Given the description of an element on the screen output the (x, y) to click on. 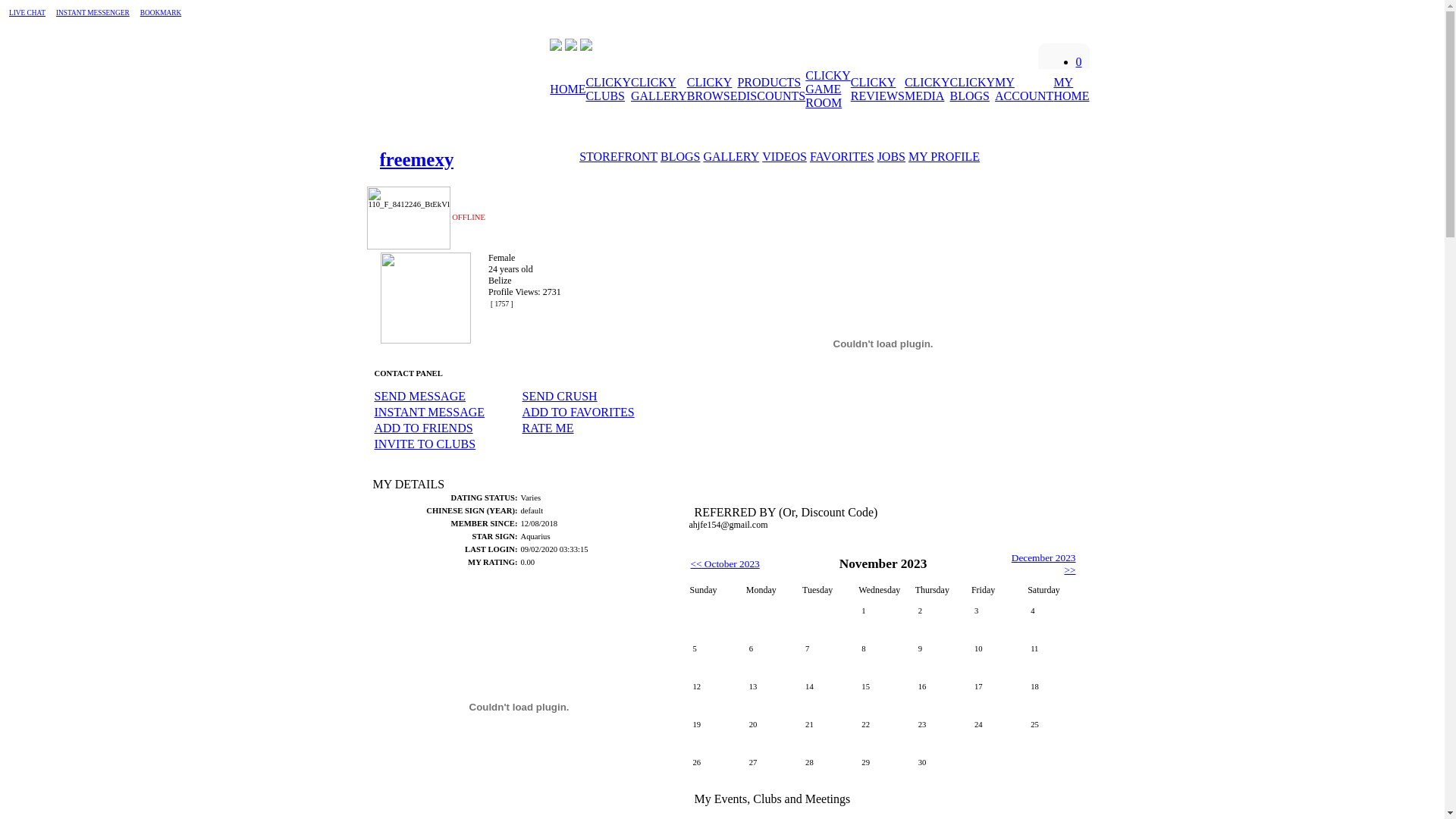
14 Element type: text (826, 694)
CLICKY
CLUBS Element type: text (607, 88)
30 Element type: text (939, 770)
MY
ACCOUNT Element type: text (1023, 88)
CLICKY
GALLERY Element type: text (658, 88)
CLICKY
GALLERY Element type: text (658, 89)
JOBS Element type: text (891, 156)
JOBS Element type: text (891, 156)
26 Element type: text (713, 770)
SEND CRUSH Element type: text (558, 395)
FAVORITES Element type: text (841, 156)
18 Element type: text (1051, 694)
VIDEOS Element type: text (784, 156)
December 2023 >> Element type: text (1043, 563)
BLOGS Element type: text (679, 156)
CLICKY
BROWSE Element type: text (712, 88)
15 Element type: text (882, 694)
MY PROFILE Element type: text (943, 156)
19 Element type: text (713, 732)
PRODUCTS
DISCOUNTS Element type: text (771, 88)
ADD TO FAVORITES Element type: text (577, 411)
7 Element type: text (826, 656)
HOME Element type: text (567, 88)
RATE ME Element type: text (547, 427)
28 Element type: text (826, 770)
ADD TO FRIENDS Element type: text (423, 427)
MY
HOME Element type: text (1070, 88)
STOREFRONT Element type: text (618, 156)
25 Element type: text (1051, 732)
VIDEOS Element type: text (784, 156)
GALLERY Element type: text (730, 156)
13 Element type: text (770, 694)
LIVE CHAT Element type: text (27, 12)
27 Element type: text (770, 770)
SEND MESSAGE Element type: text (419, 395)
17 Element type: text (995, 694)
11 Element type: text (1051, 656)
10 Element type: text (995, 656)
4 Element type: text (1051, 618)
<< October 2023 Element type: text (724, 563)
FAVORITES Element type: text (841, 156)
22 Element type: text (882, 732)
29 Element type: text (882, 770)
MY PROFILE Element type: text (943, 156)
16 Element type: text (939, 694)
MY
ACCOUNT Element type: text (1023, 89)
0 Element type: text (1078, 61)
9 Element type: text (939, 656)
PRODUCTS
DISCOUNTS Element type: text (771, 89)
CLICKY
REVIEWS Element type: text (877, 88)
CLICKY
BROWSE Element type: text (712, 89)
freemexy Element type: text (416, 159)
1 Element type: text (882, 618)
CLICKY
BLOGS Element type: text (971, 88)
MY
HOME Element type: text (1070, 89)
8 Element type: text (882, 656)
CLICKY
REVIEWS Element type: text (877, 89)
20 Element type: text (770, 732)
CLICKY
GAME ROOM Element type: text (827, 89)
CLICKY
MEDIA Element type: text (927, 88)
INSTANT MESSAGE Element type: text (429, 411)
CLICKY
MEDIA Element type: text (927, 89)
5 Element type: text (713, 656)
21 Element type: text (826, 732)
6 Element type: text (770, 656)
HOME Element type: text (567, 89)
CLICKY
BLOGS Element type: text (971, 89)
12 Element type: text (713, 694)
CLICKY
GAME ROOM Element type: text (827, 89)
BLOGS Element type: text (679, 156)
GALLERY Element type: text (730, 156)
STOREFRONT Element type: text (618, 156)
INVITE TO CLUBS Element type: text (425, 443)
CLICKY
CLUBS Element type: text (607, 89)
3 Element type: text (995, 618)
BOOKMARK Element type: text (160, 12)
2 Element type: text (939, 618)
INSTANT MESSENGER Element type: text (92, 12)
24 Element type: text (995, 732)
23 Element type: text (939, 732)
